Given the description of an element on the screen output the (x, y) to click on. 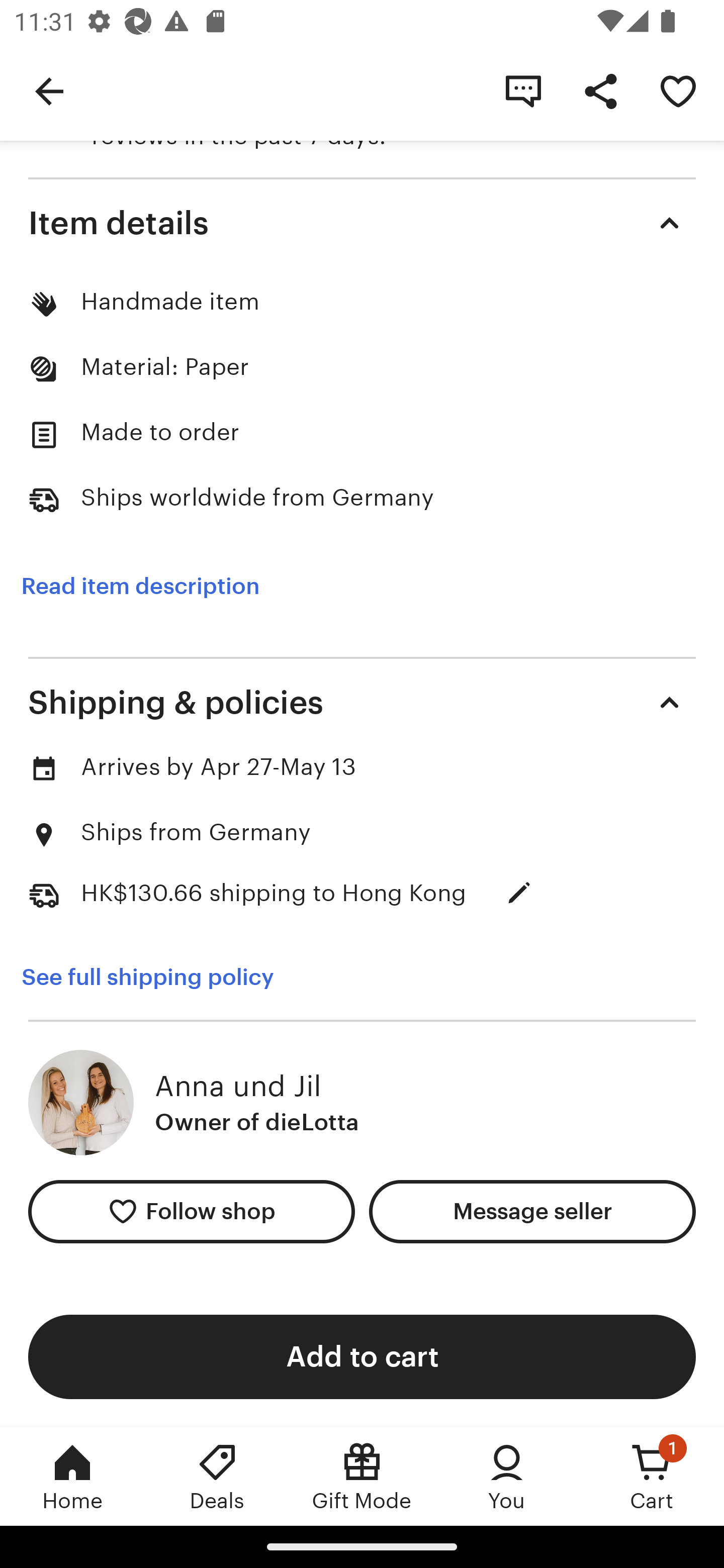
Navigate up (49, 90)
Contact shop (523, 90)
Share (600, 90)
Item details (362, 222)
Read item description (140, 586)
Shipping & policies (362, 701)
Update (518, 892)
See full shipping policy (161, 976)
Follow shop Follow dieLotta (191, 1211)
Message seller (532, 1211)
Add to cart (361, 1355)
Deals (216, 1475)
Gift Mode (361, 1475)
You (506, 1475)
Cart, 1 new notification Cart (651, 1475)
